Given the description of an element on the screen output the (x, y) to click on. 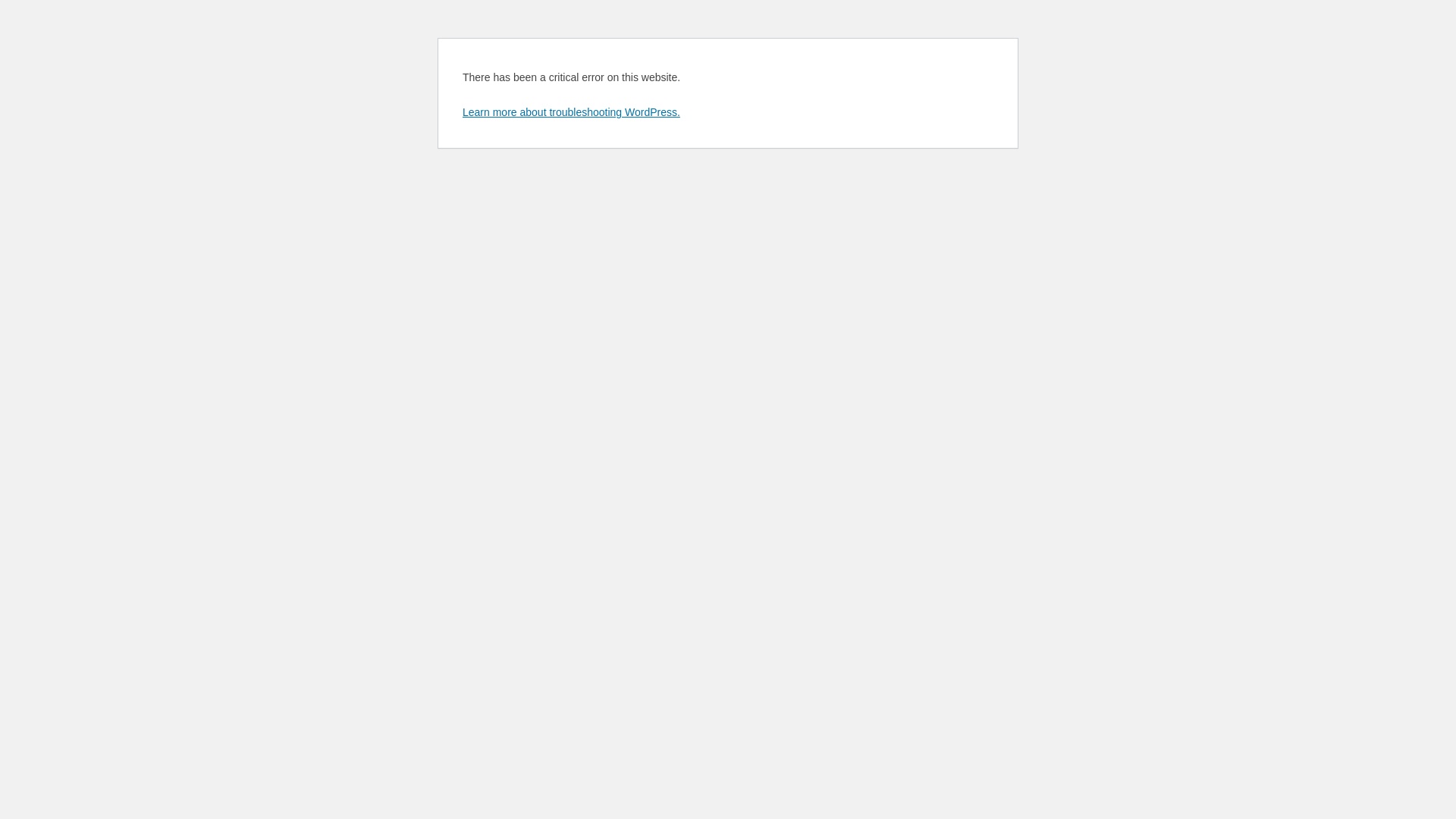
Learn more about troubleshooting WordPress. Element type: text (571, 112)
